Given the description of an element on the screen output the (x, y) to click on. 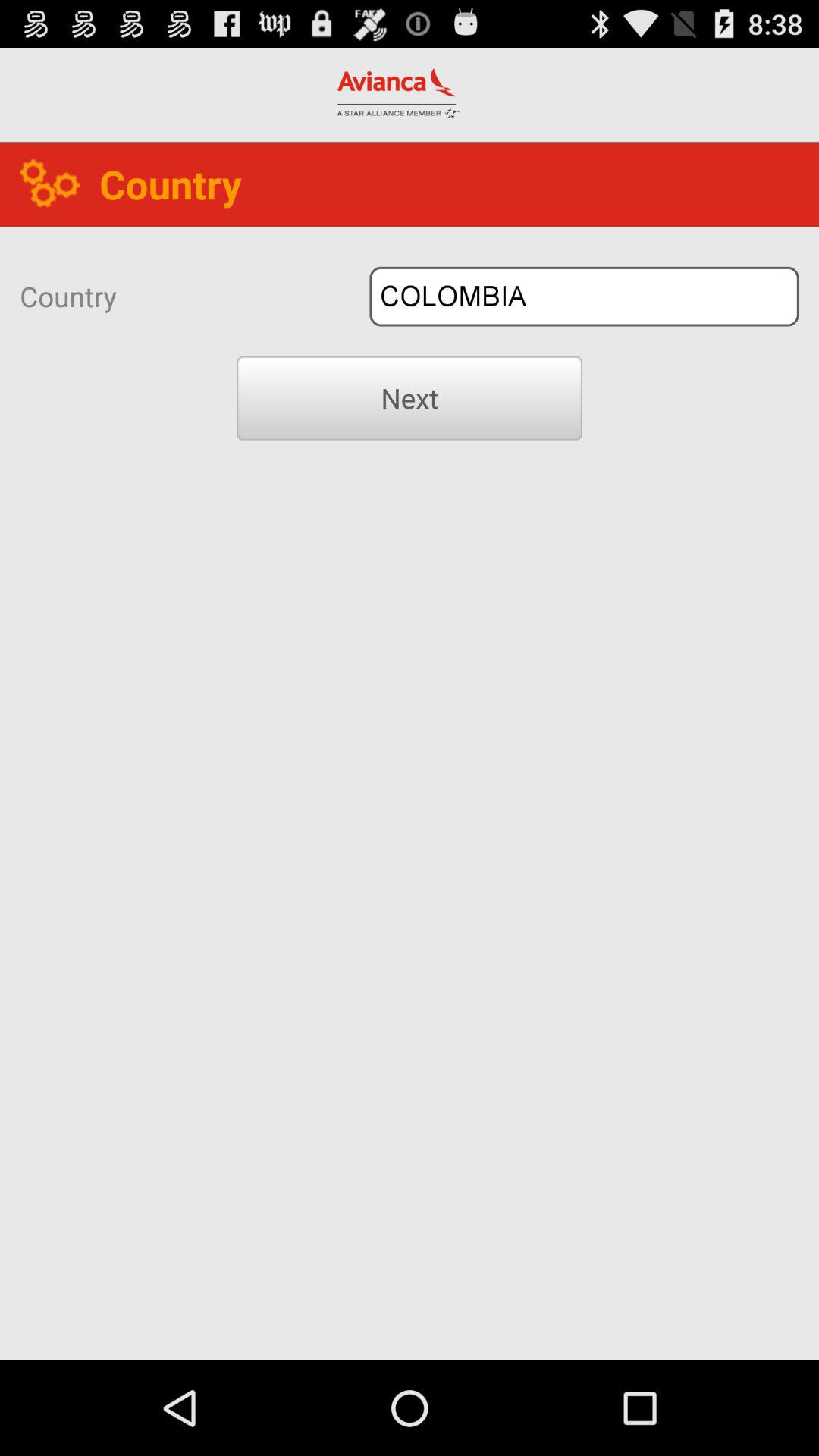
tap next (409, 398)
